Given the description of an element on the screen output the (x, y) to click on. 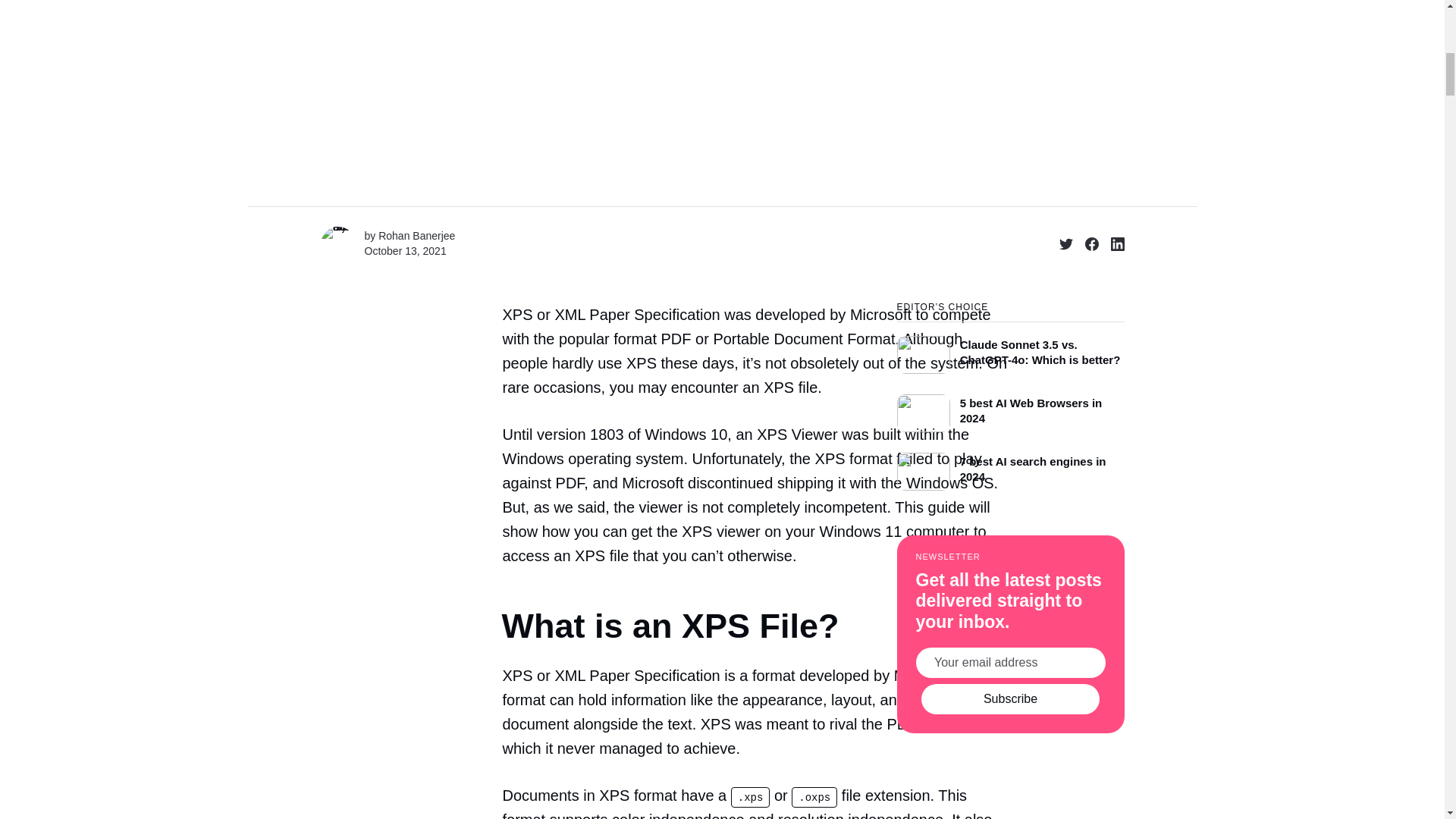
5 best AI Web Browsers in 2024 (1010, 408)
Claude Sonnet 3.5 vs. ChatGPT-4o: Which is better? (1010, 347)
Rohan Banerjee (416, 235)
Subscribe (1010, 698)
7 best AI search engines in 2024 (1010, 467)
